Given the description of an element on the screen output the (x, y) to click on. 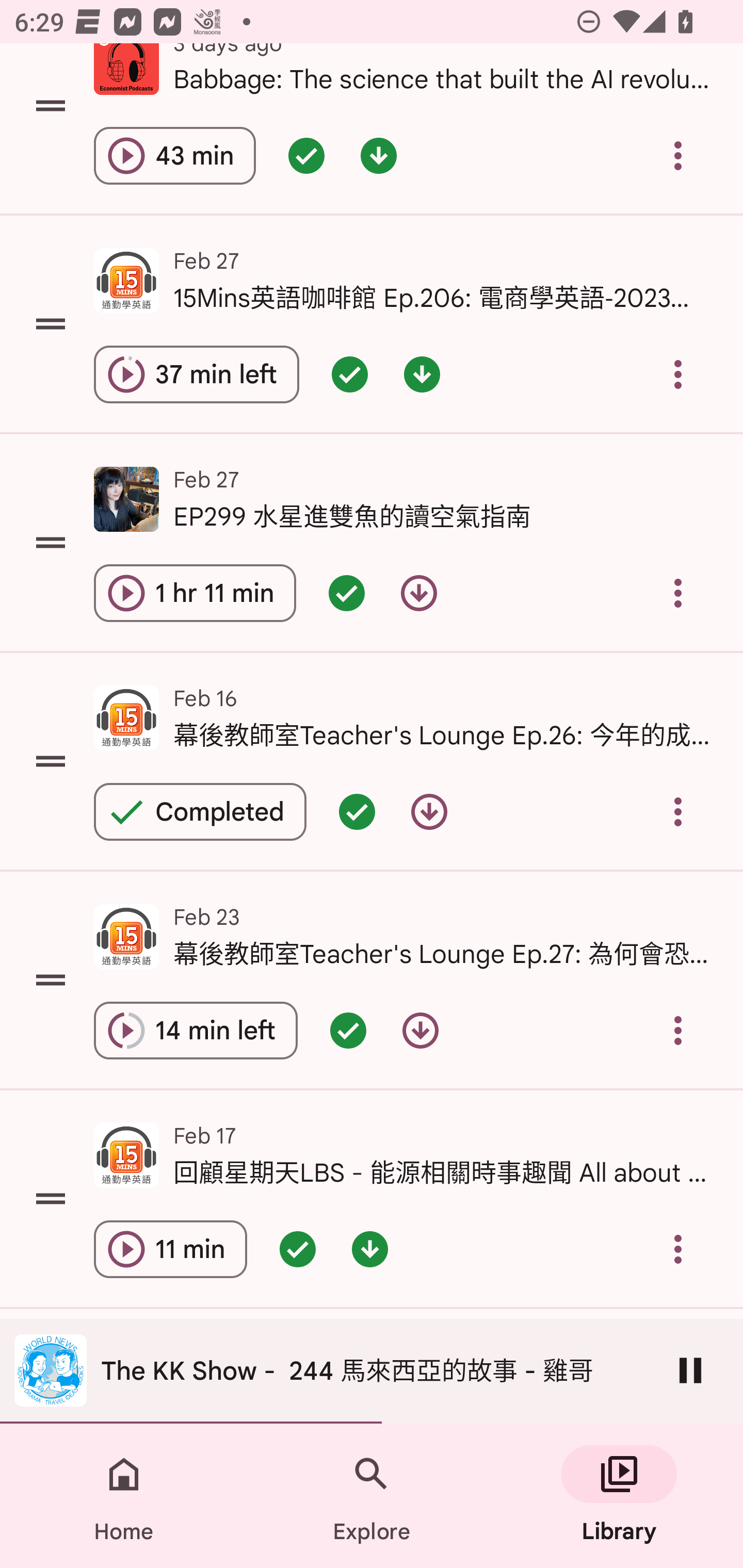
Episode queued - double tap for options (306, 155)
Episode downloaded - double tap for options (378, 155)
Overflow menu (677, 155)
Episode queued - double tap for options (349, 373)
Episode downloaded - double tap for options (421, 373)
Overflow menu (677, 373)
Play episode EP299 水星進雙魚的讀空氣指南 1 hr 11 min (194, 593)
Episode queued - double tap for options (346, 593)
Download episode (418, 593)
Overflow menu (677, 593)
Episode queued - double tap for options (356, 811)
Download episode (429, 811)
Overflow menu (677, 811)
Episode queued - double tap for options (348, 1030)
Download episode (420, 1030)
Overflow menu (677, 1030)
Episode queued - double tap for options (297, 1248)
Episode downloaded - double tap for options (369, 1248)
Overflow menu (677, 1248)
Pause (690, 1370)
Home (123, 1495)
Explore (371, 1495)
